Given the description of an element on the screen output the (x, y) to click on. 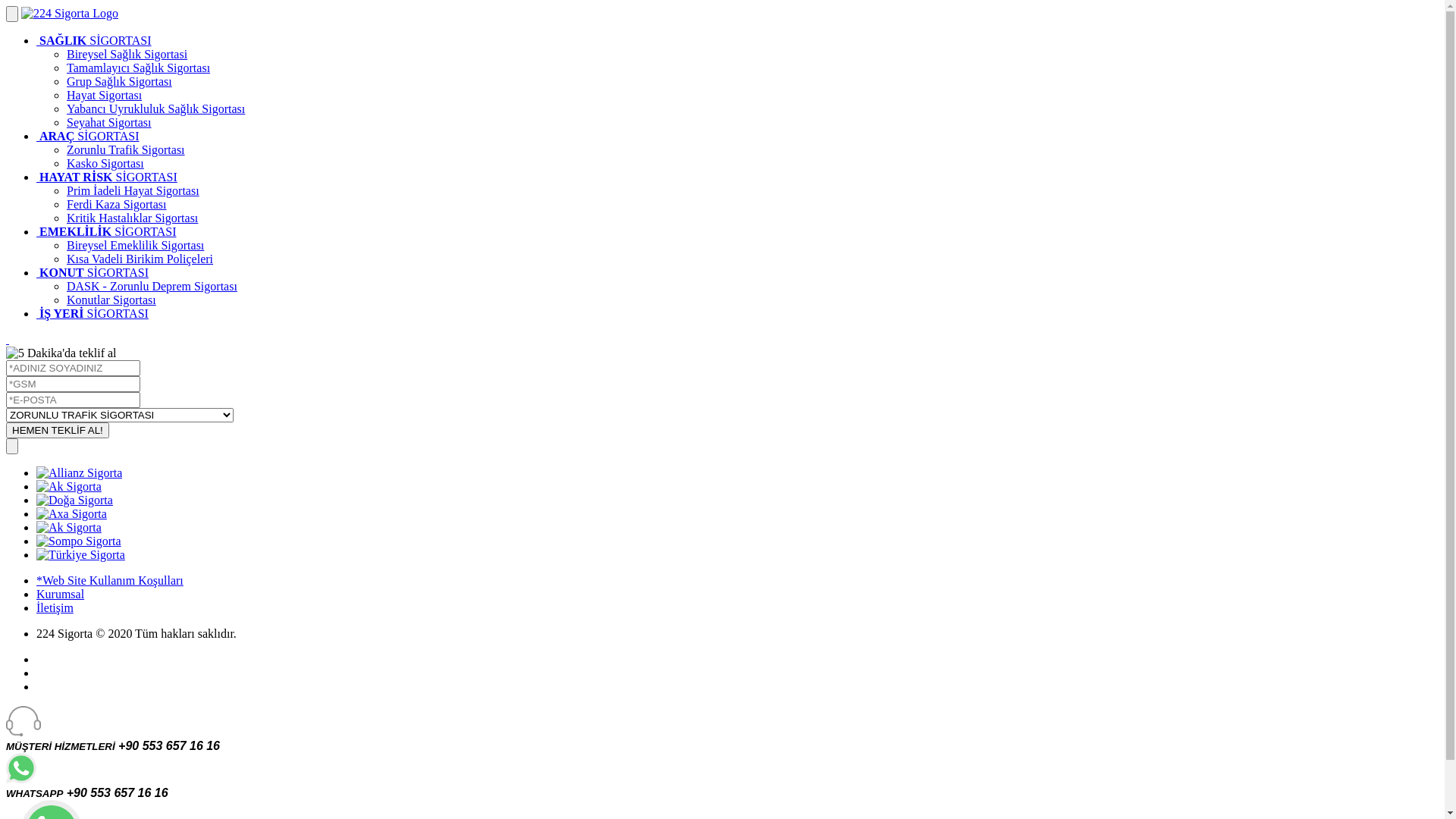
WHATSAPP +90 553 657 16 16 Element type: text (722, 793)
Kurumsal Element type: text (60, 593)
